Given the description of an element on the screen output the (x, y) to click on. 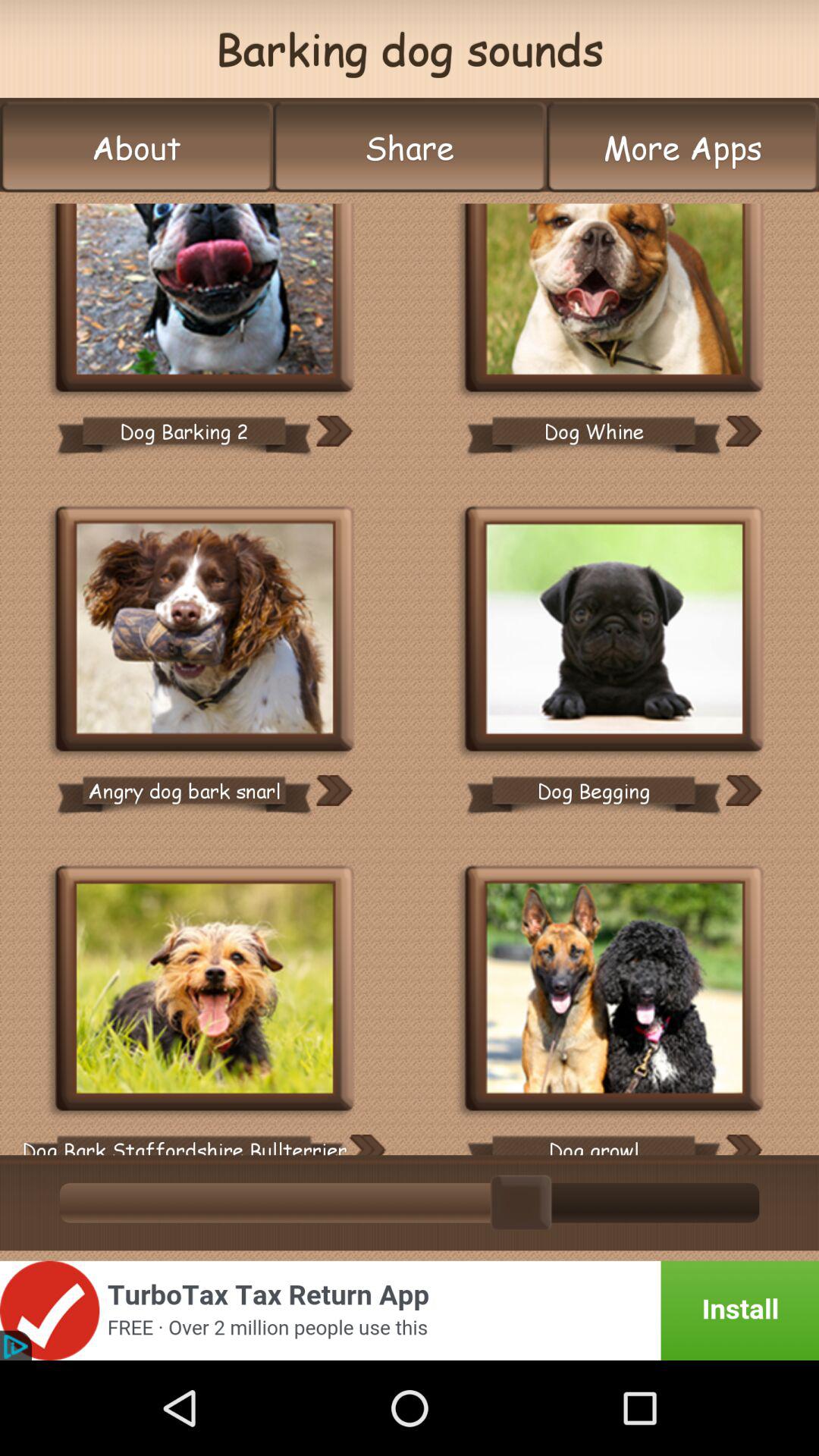
press the icon to the right of the share icon (682, 147)
